Given the description of an element on the screen output the (x, y) to click on. 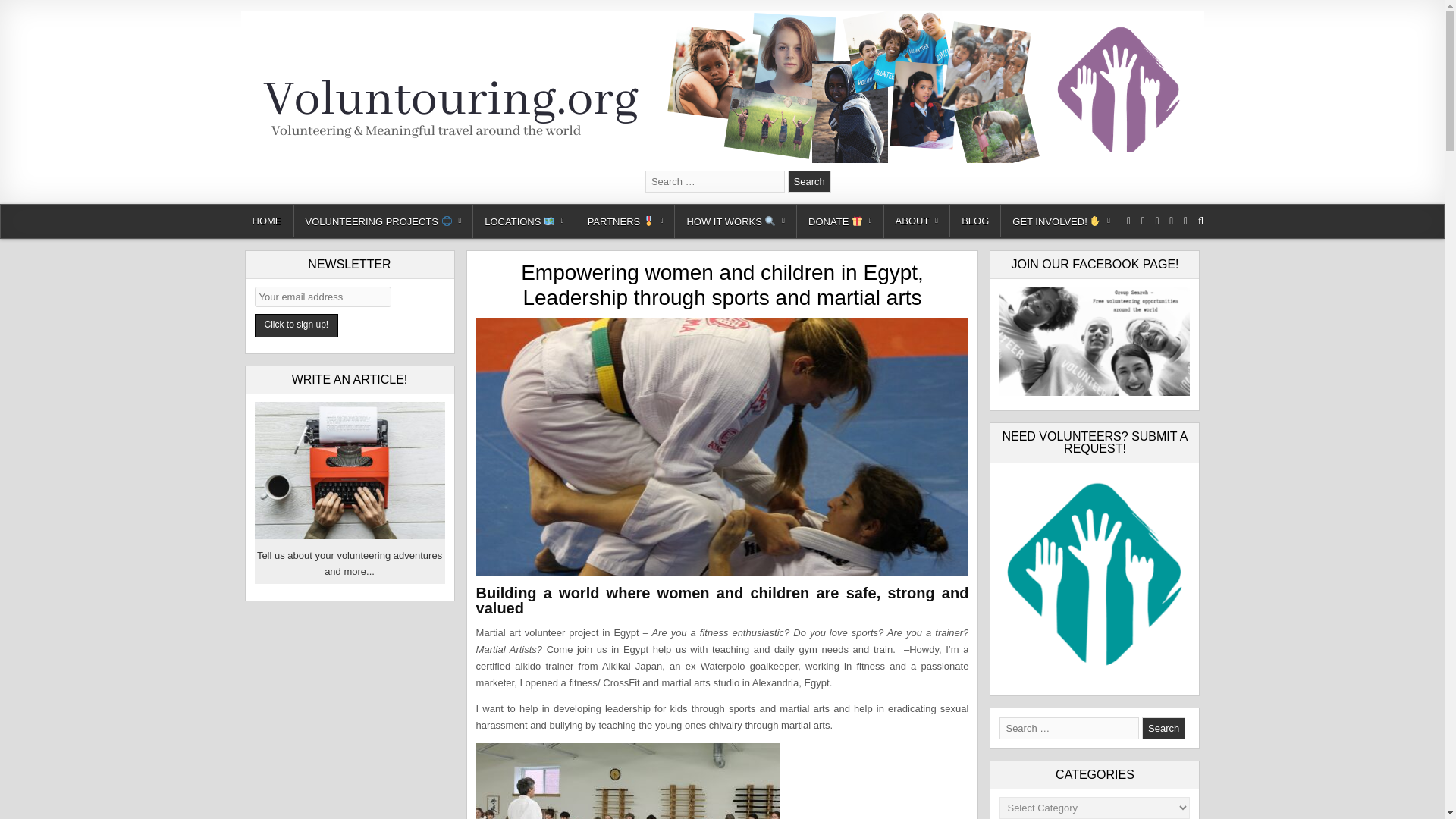
Search (1163, 728)
VOLUNTEERING PROJECTS (384, 221)
HOME (267, 220)
Click to sign up! (296, 325)
Search (809, 181)
Need volunteers? Submit a request! (1093, 575)
LOCATIONS (524, 221)
Search (1163, 728)
Search (809, 181)
Voluntouring.org (314, 182)
Search (809, 181)
